Given the description of an element on the screen output the (x, y) to click on. 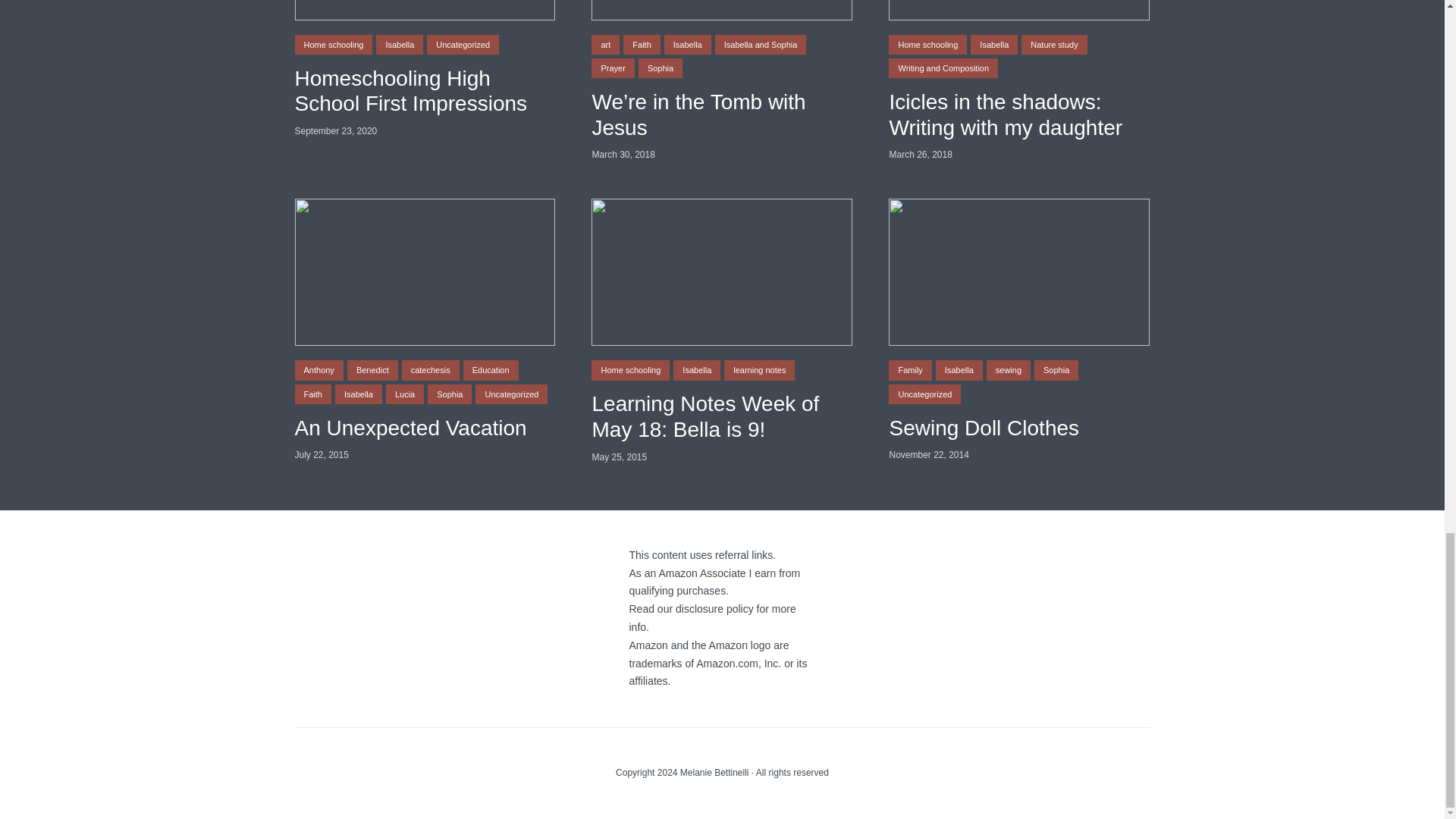
Prayer (612, 67)
art (605, 44)
Home schooling (333, 44)
Isabella (687, 44)
Uncategorized (462, 44)
Faith (641, 44)
Isabella and Sophia (760, 44)
Homeschooling High School First Impressions (424, 91)
Isabella (399, 44)
